Given the description of an element on the screen output the (x, y) to click on. 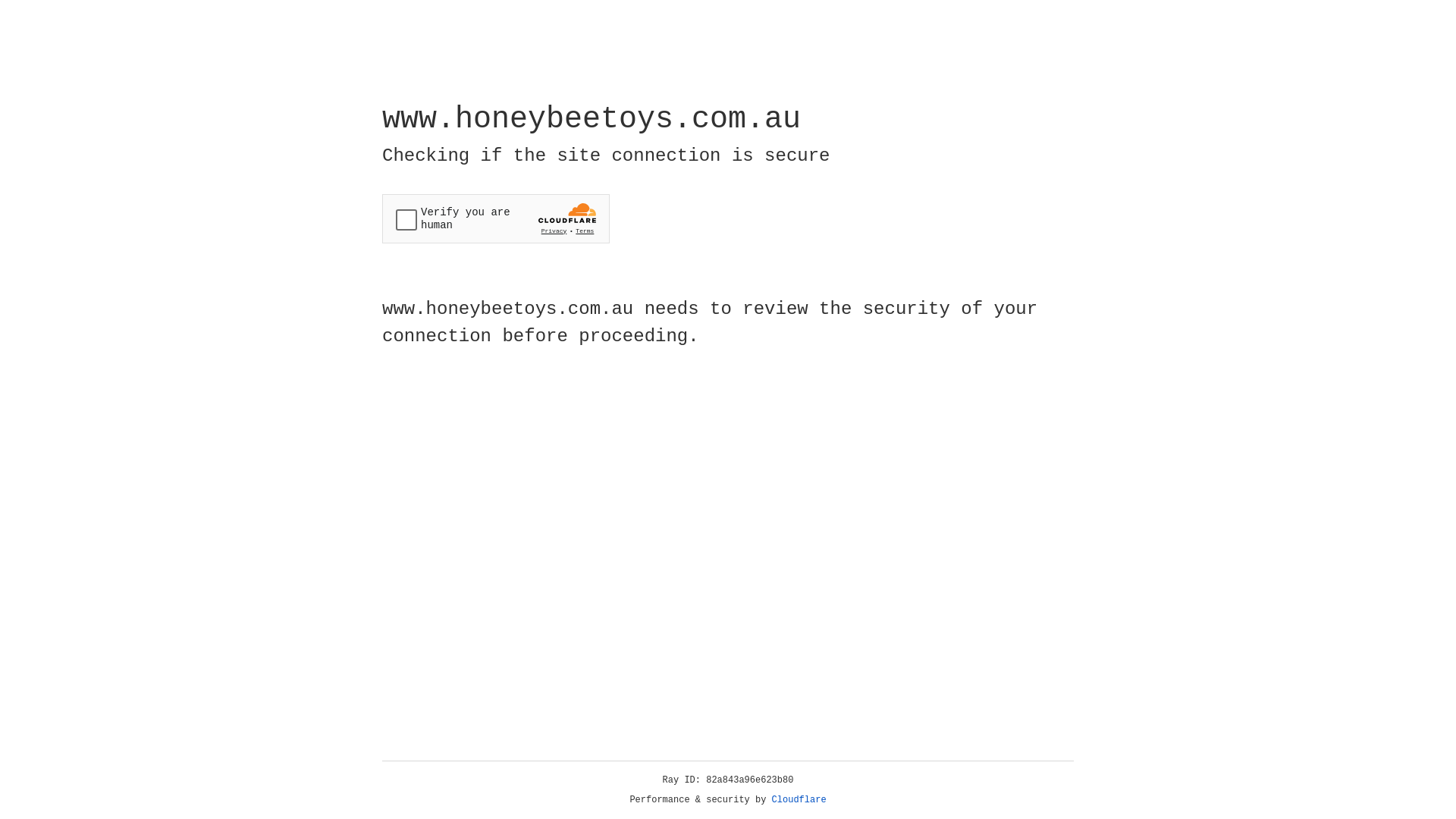
Cloudflare Element type: text (798, 799)
Widget containing a Cloudflare security challenge Element type: hover (495, 218)
